Given the description of an element on the screen output the (x, y) to click on. 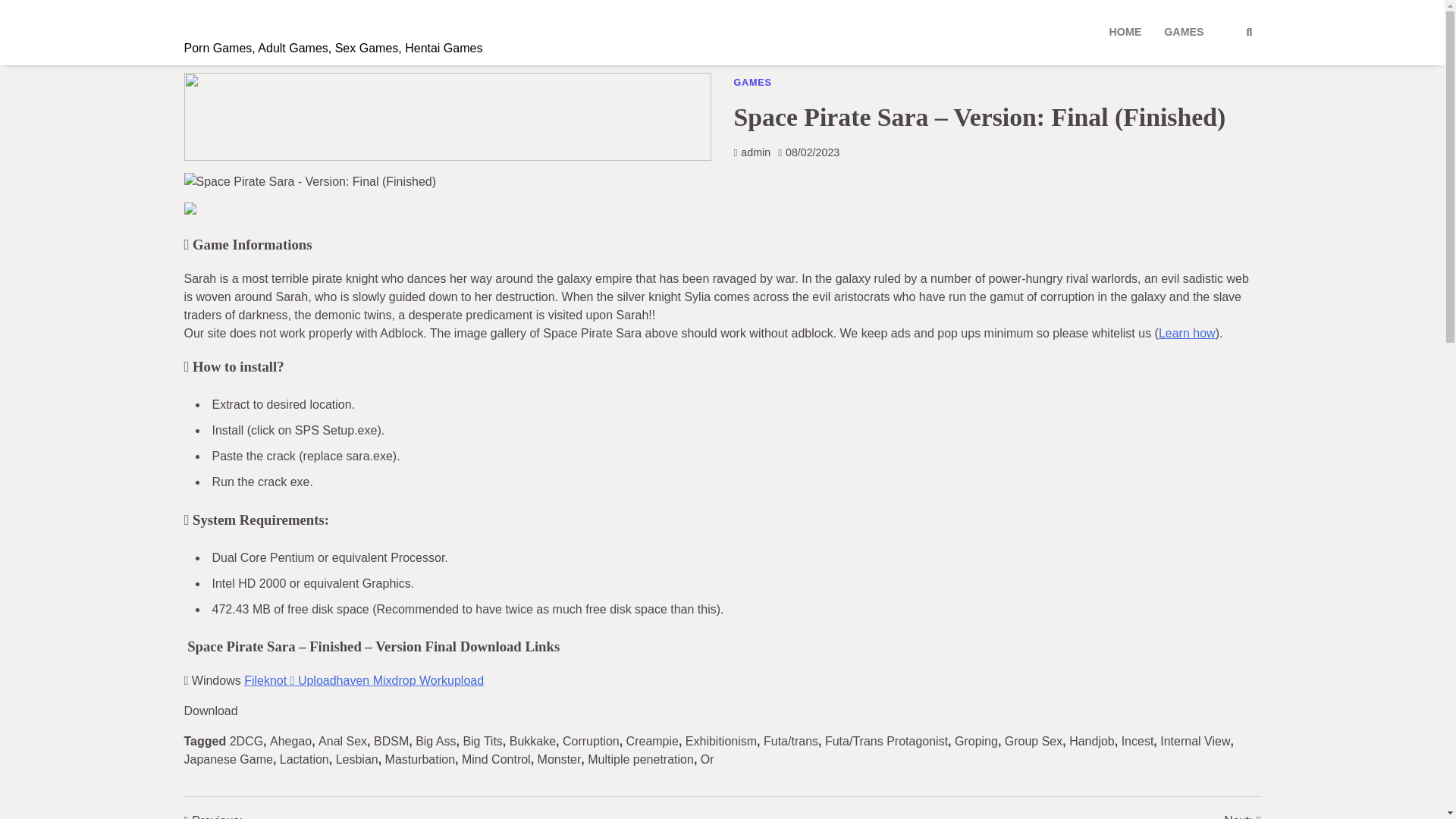
BDSM (391, 740)
2DCG (246, 740)
Ahegao (290, 740)
GAMES (752, 81)
Internal View (1195, 740)
Bukkake (532, 740)
Monster (558, 758)
Learn how (1186, 332)
Japanese Game (227, 758)
Incest (1137, 740)
Fileknot (269, 680)
Handjob (1091, 740)
admin (752, 152)
Creampie (652, 740)
HOME (1125, 32)
